Given the description of an element on the screen output the (x, y) to click on. 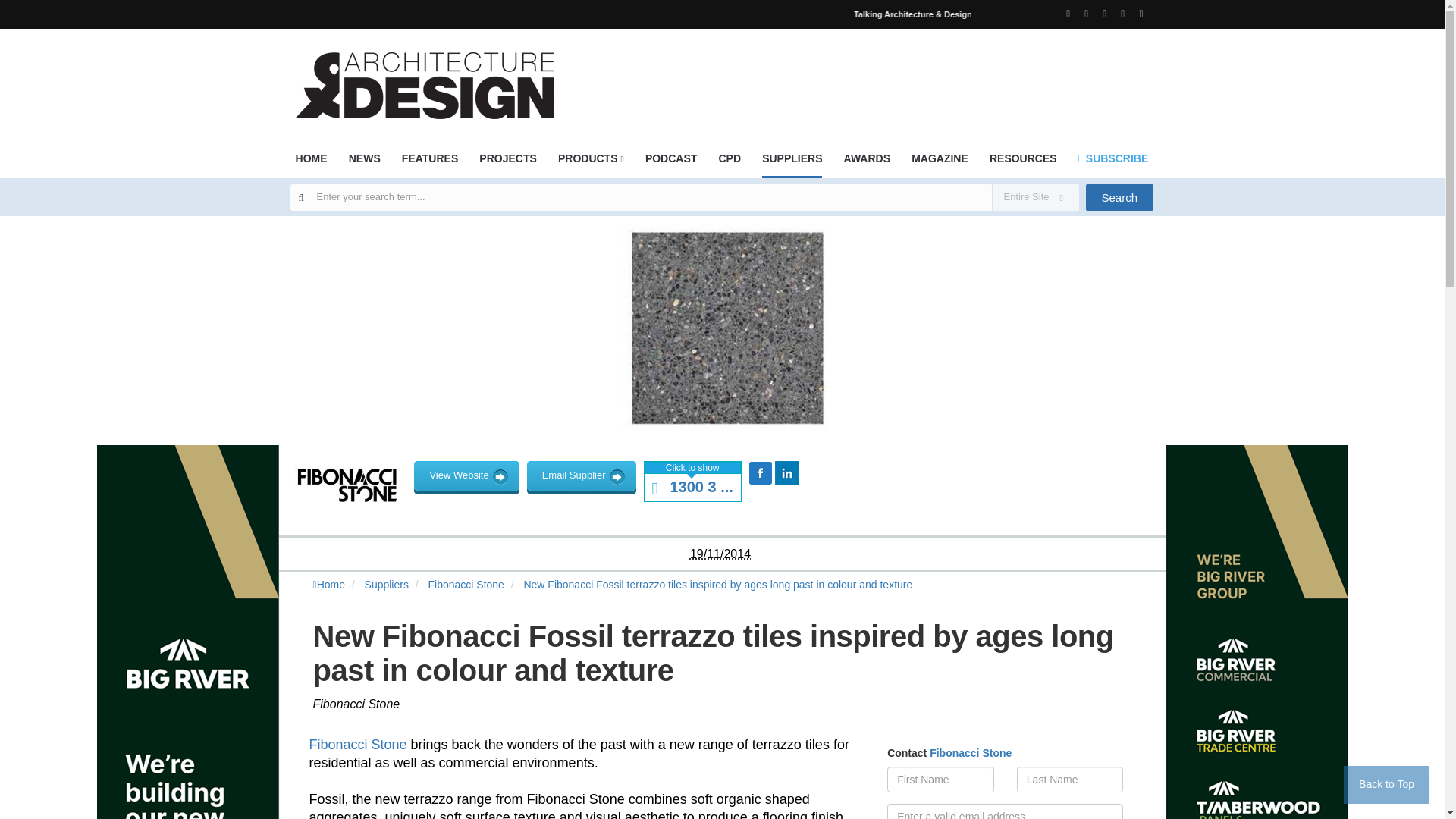
2014-11-19T11:30:00Z (720, 553)
NEWS (364, 163)
HOME (311, 163)
3rd party ad content (876, 75)
PRODUCTS (590, 163)
FEATURES (429, 163)
PROJECTS (507, 163)
